Given the description of an element on the screen output the (x, y) to click on. 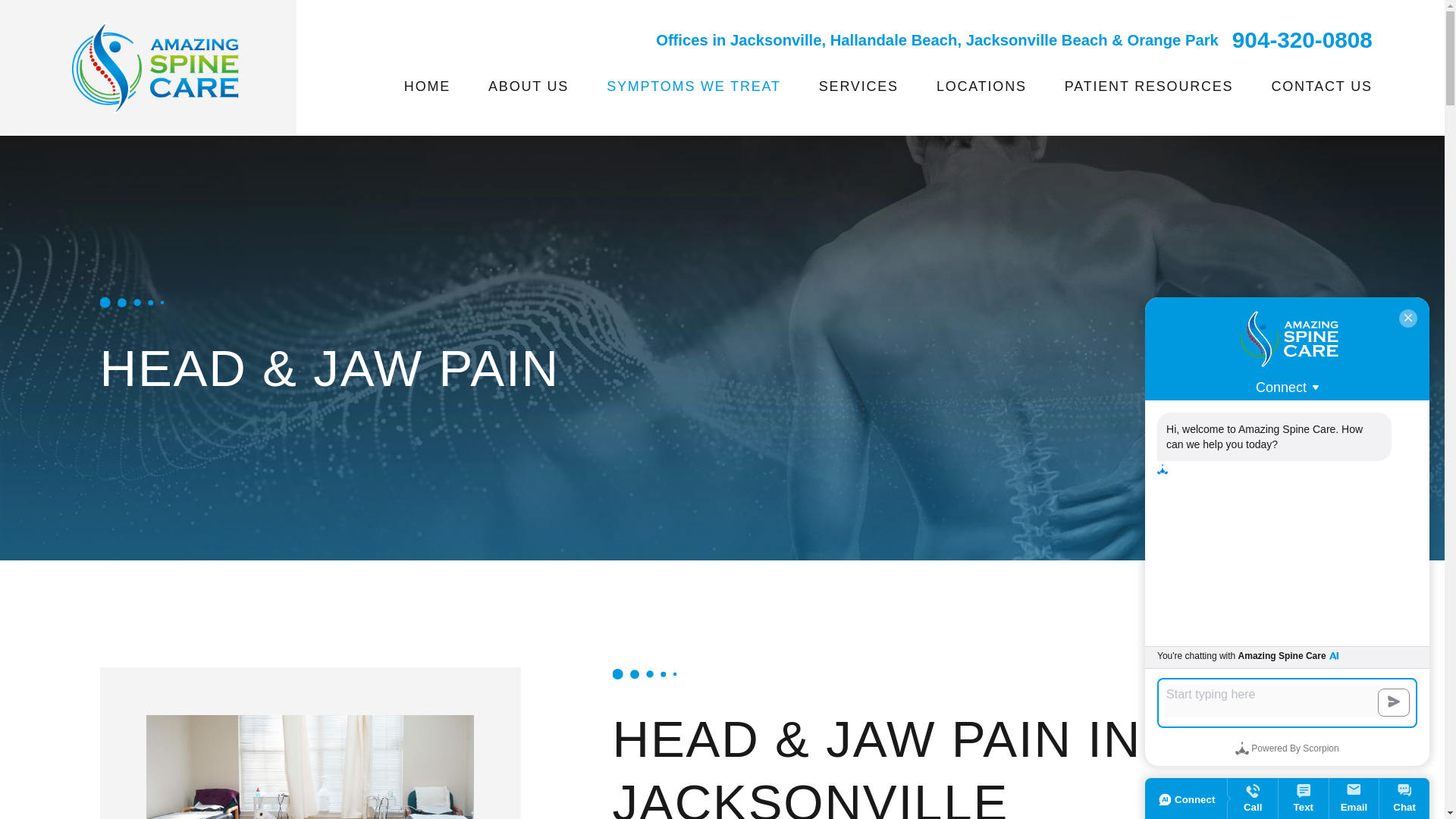
SERVICES (858, 86)
904-320-0808 (1302, 39)
Home (154, 68)
SYMPTOMS WE TREAT (693, 86)
ABOUT US (528, 86)
